Given the description of an element on the screen output the (x, y) to click on. 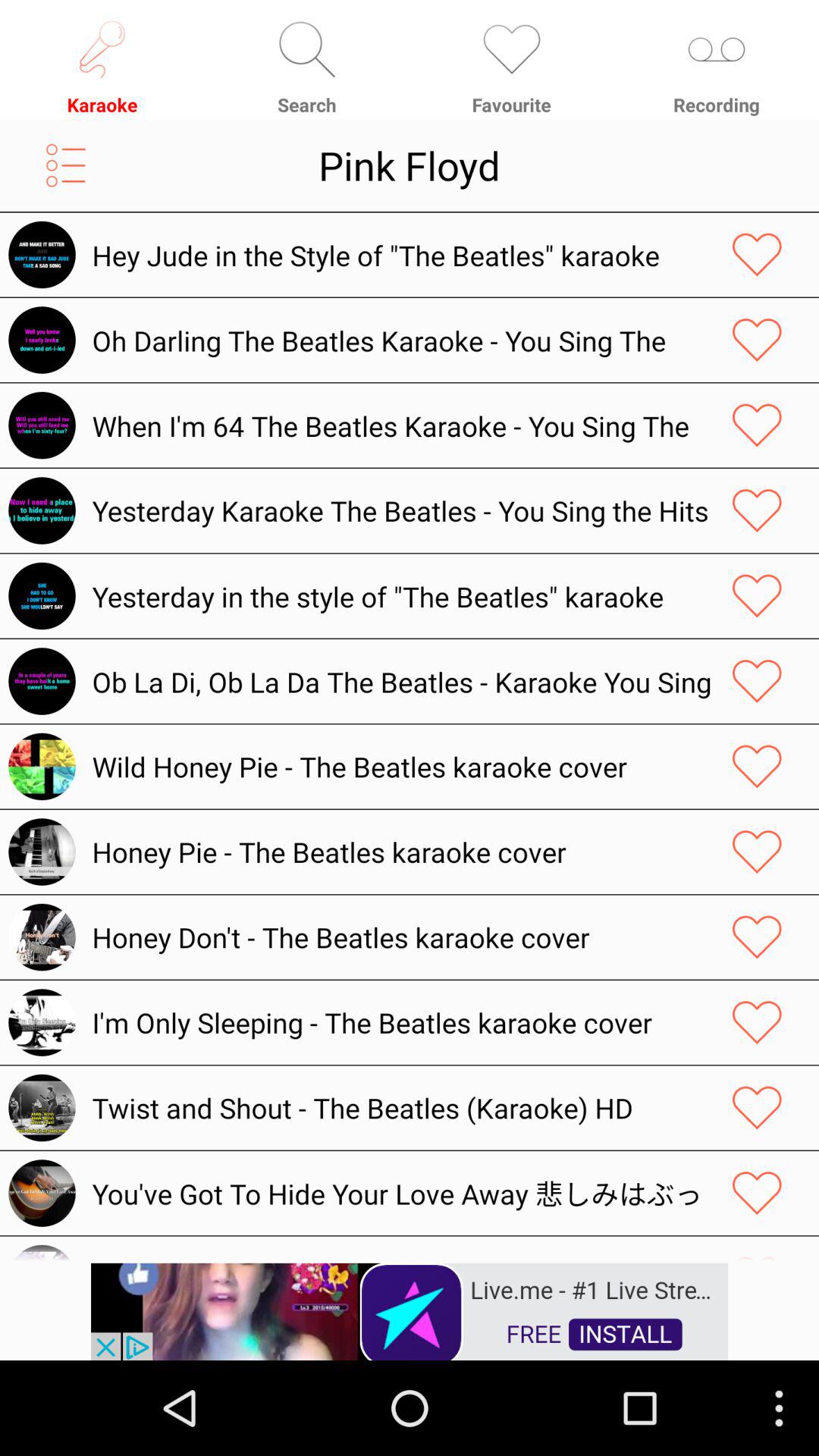
more option (65, 165)
